Given the description of an element on the screen output the (x, y) to click on. 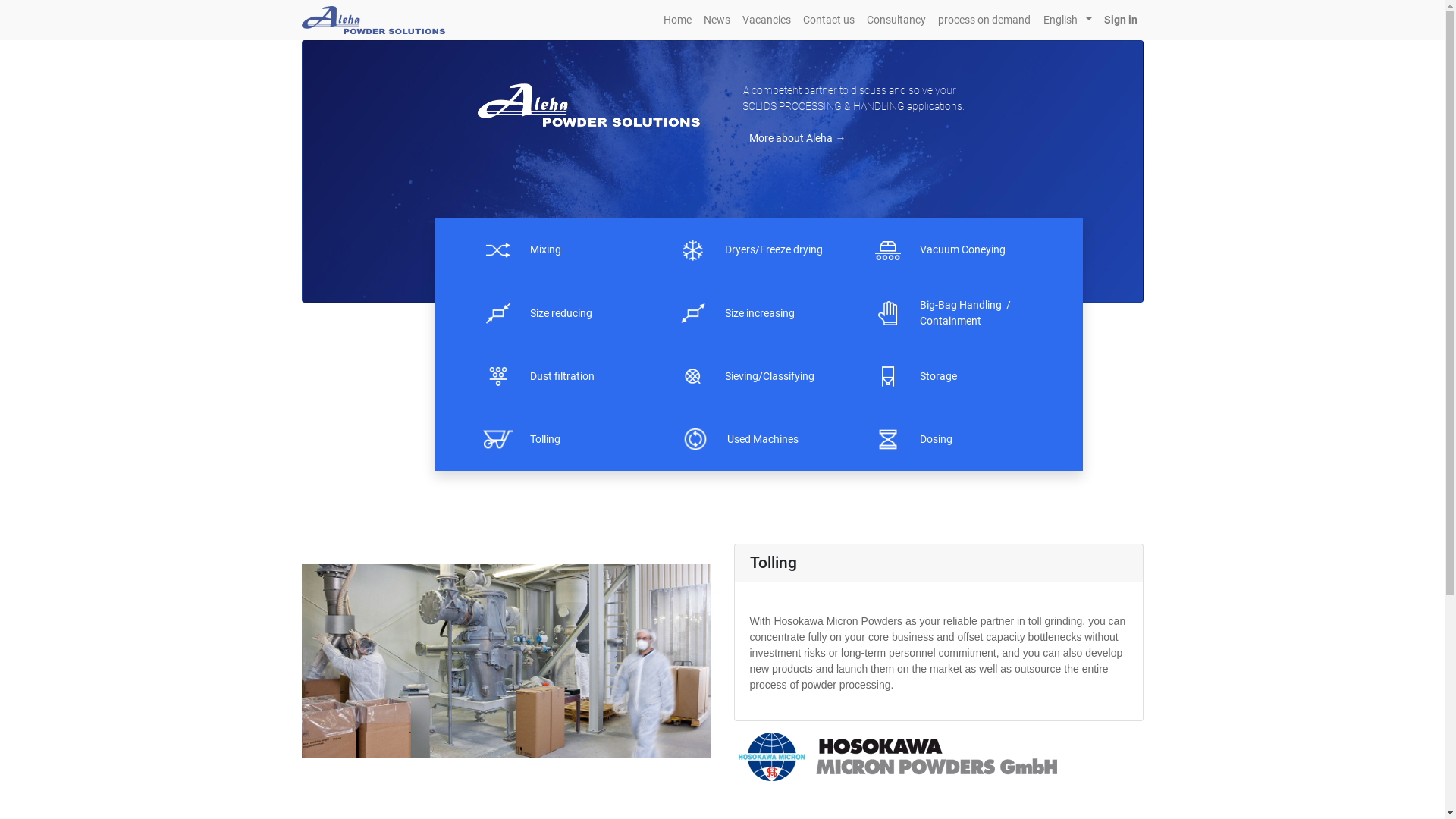
Tolling  Element type: text (546, 439)
News Element type: text (716, 20)
Dust filtration Element type: text (562, 376)
Sieving/Classifying Element type: text (769, 376)
Bv Aleha Powder Solutions Element type: hover (373, 18)
Mixing Element type: text (545, 249)
Dryers/Freeze drying Element type: text (773, 249)
Sign in Element type: text (1120, 20)
  Element type: text (735, 755)
        Element type: text (741, 138)
Vacancies Element type: text (766, 20)
Home Element type: text (677, 20)
Vacuum Coneying Element type: text (962, 249)
  Element type: text (1011, 313)
Storage  Element type: text (939, 376)
Big-Bag Handling  /
Containment Element type: text (964, 313)
Used Machines Element type: text (762, 439)
Dosing Element type: text (935, 439)
Consultancy Element type: text (895, 20)
Size reducing Element type: text (561, 313)
process on demand Element type: text (983, 20)
English Element type: text (1067, 20)
Contact us Element type: text (828, 20)
Size increasing Element type: text (759, 313)
